Given the description of an element on the screen output the (x, y) to click on. 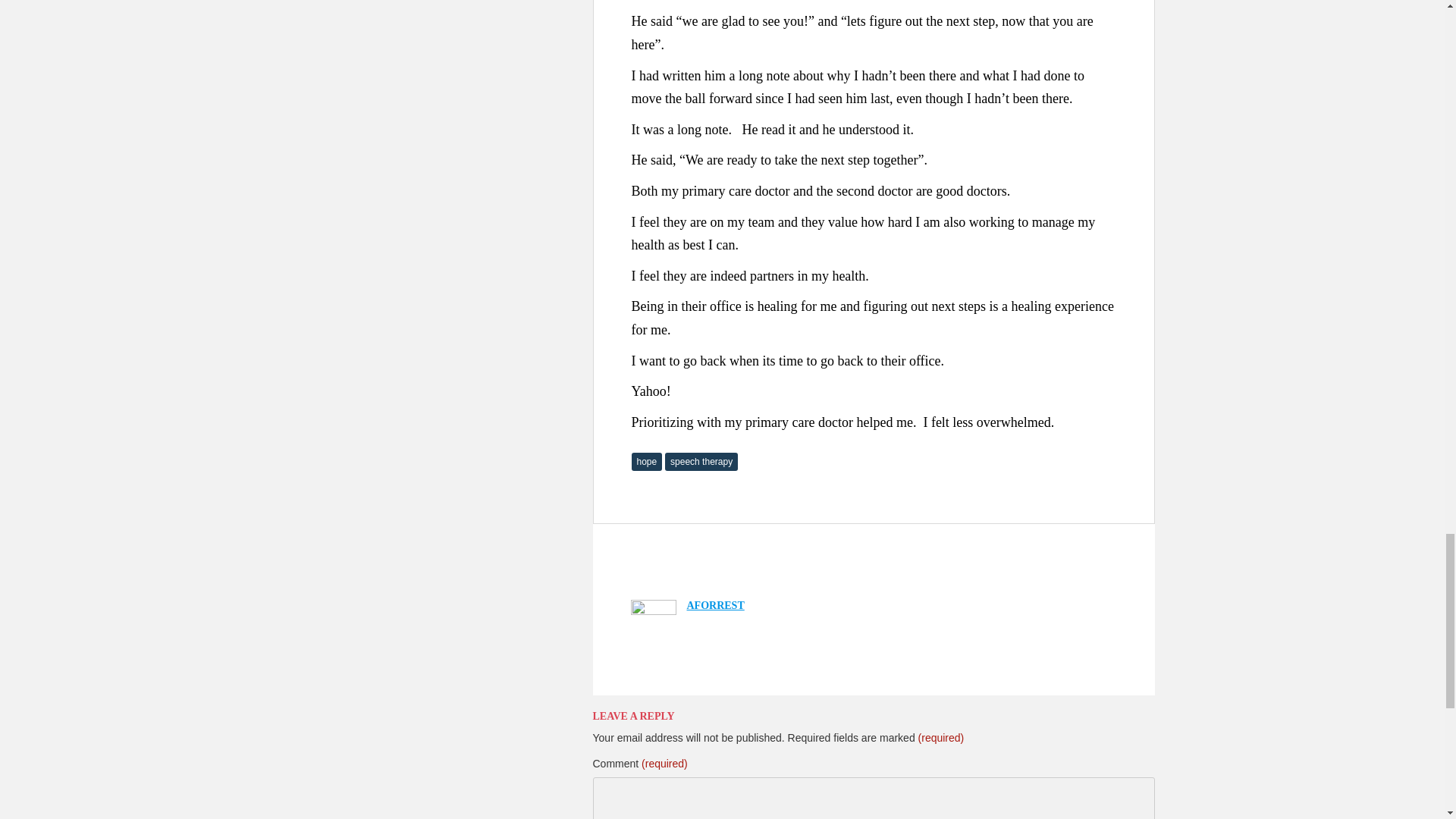
AFORREST (715, 604)
hope (646, 461)
speech therapy (701, 461)
